Given the description of an element on the screen output the (x, y) to click on. 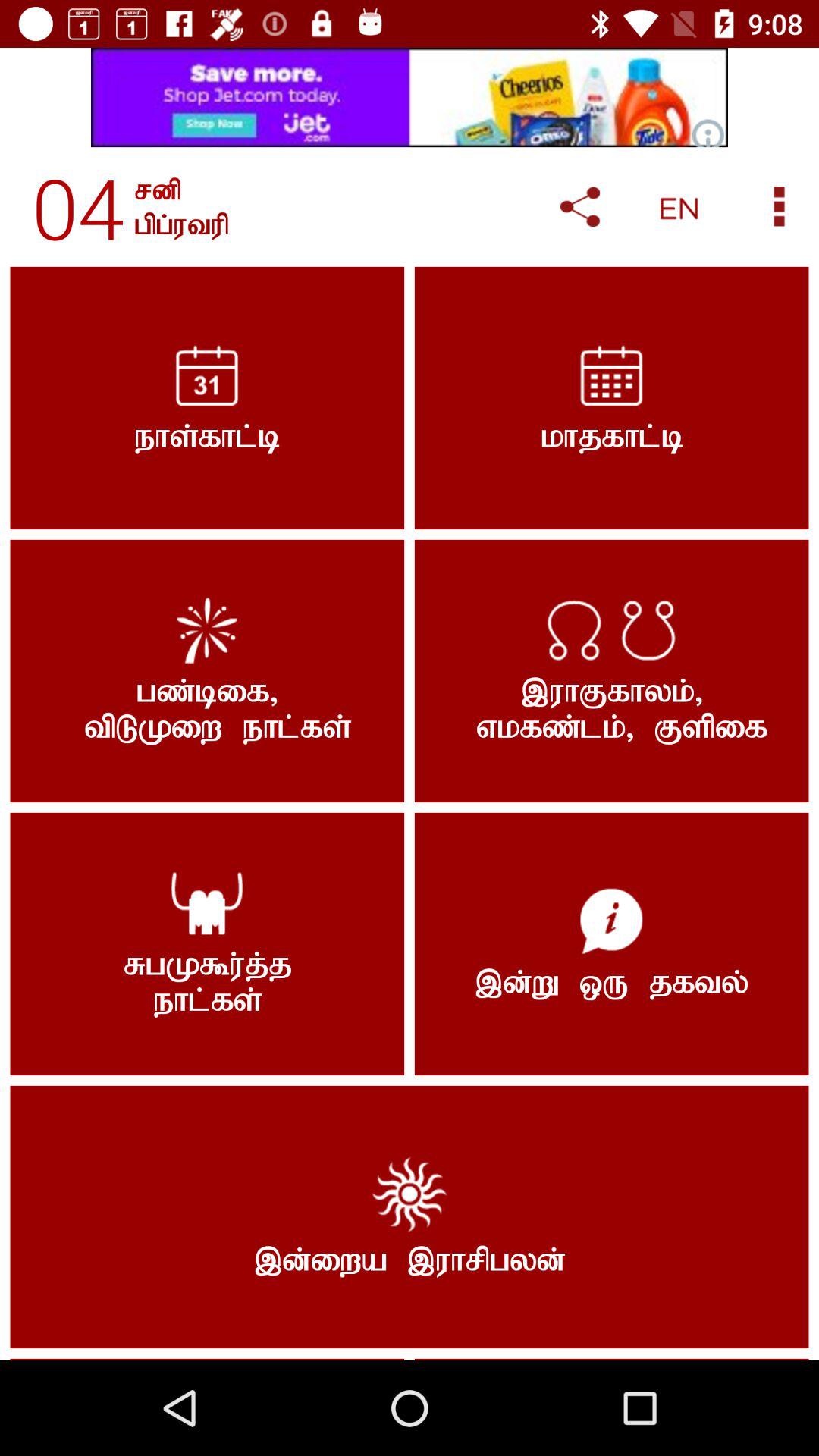
settings (779, 206)
